Given the description of an element on the screen output the (x, y) to click on. 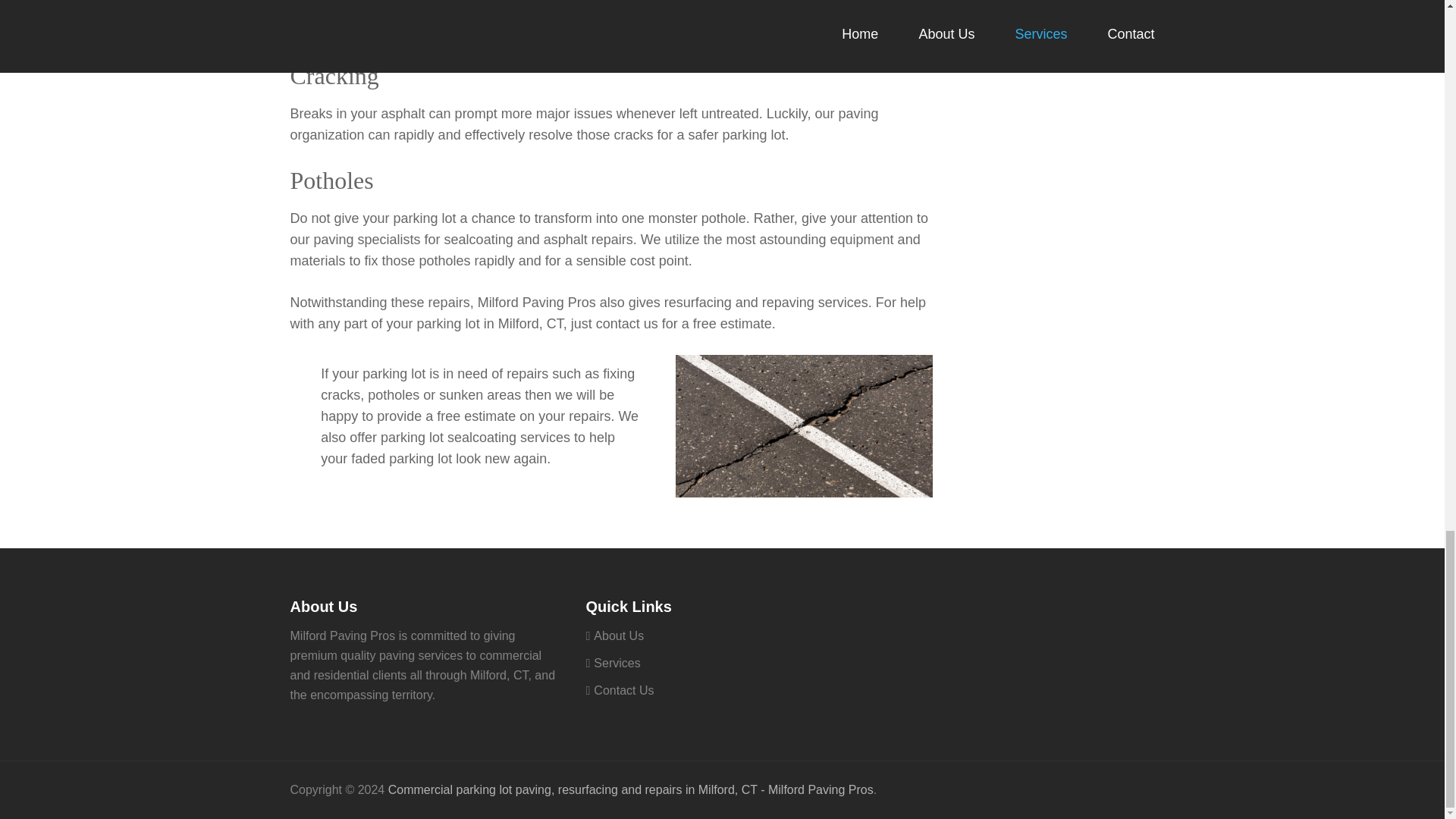
About Us (618, 635)
Services (617, 662)
Contact Us (623, 689)
